Given the description of an element on the screen output the (x, y) to click on. 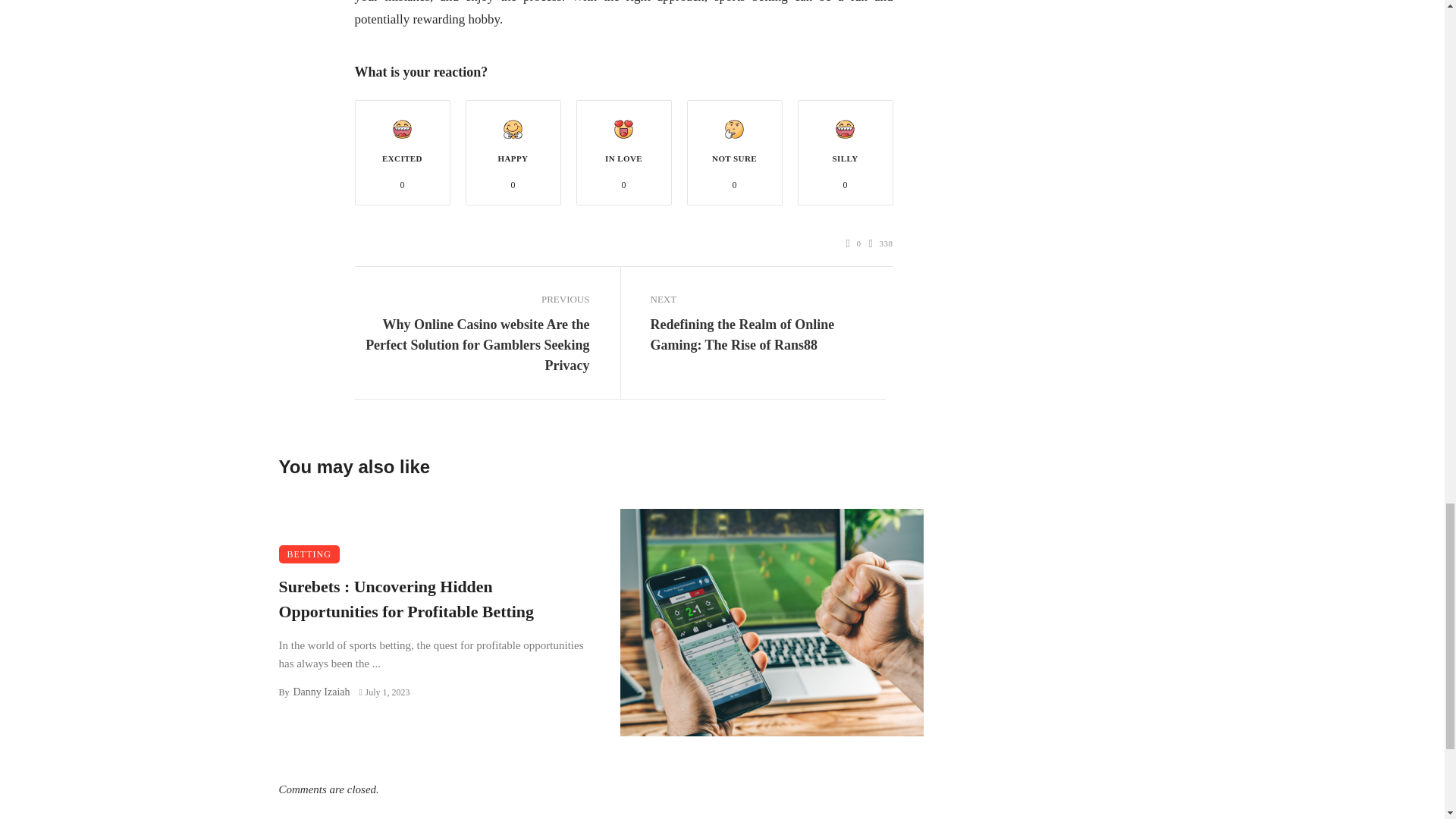
NEXT (767, 299)
Redefining the Realm of Online Gaming: The Rise of Rans88 (767, 334)
338 (881, 243)
PREVIOUS (472, 299)
0 (853, 243)
BETTING (309, 554)
Danny Izaiah (320, 691)
